Given the description of an element on the screen output the (x, y) to click on. 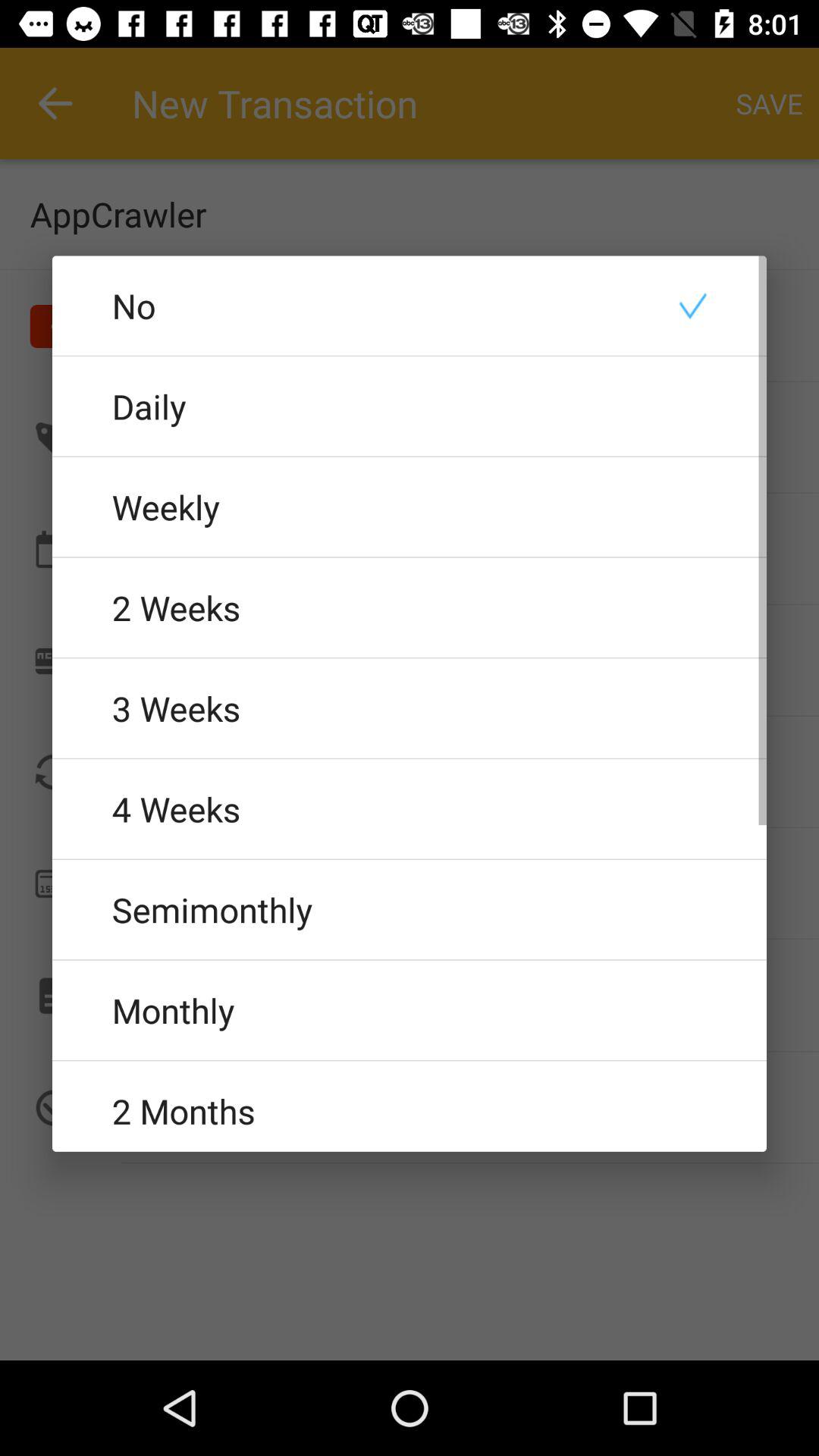
swipe until the 3 weeks icon (409, 708)
